Given the description of an element on the screen output the (x, y) to click on. 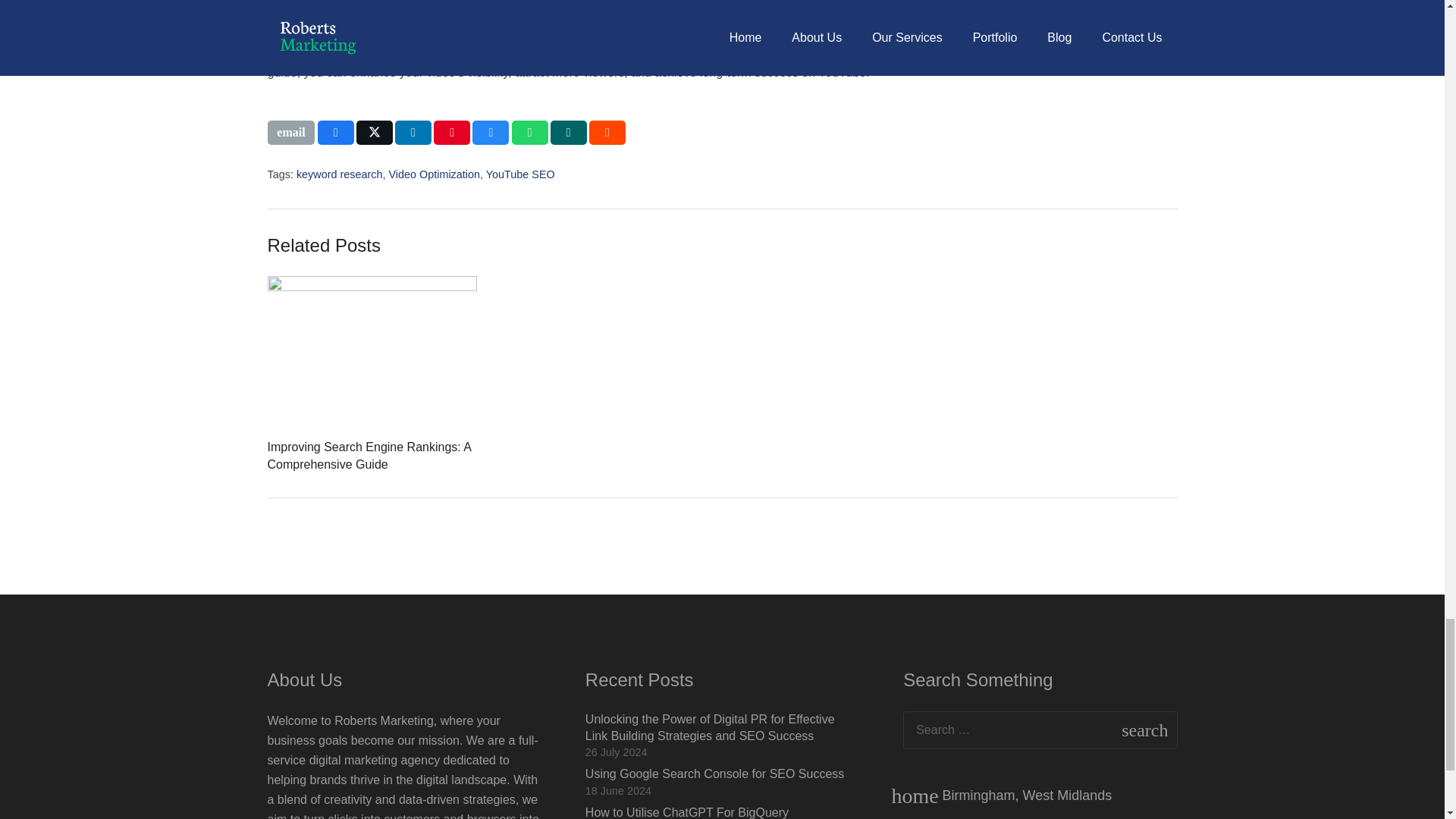
Share this (568, 132)
keyword research (339, 174)
Video Optimization (434, 174)
Share this (530, 132)
Using Google Search Console for SEO Success (714, 773)
Share this (412, 132)
Tweet this (374, 132)
YouTube SEO (520, 174)
Share this (607, 132)
Pin this (451, 132)
Email this (290, 132)
Share this (335, 132)
How to Utilise ChatGPT For BigQuery (687, 812)
Share this (489, 132)
